Given the description of an element on the screen output the (x, y) to click on. 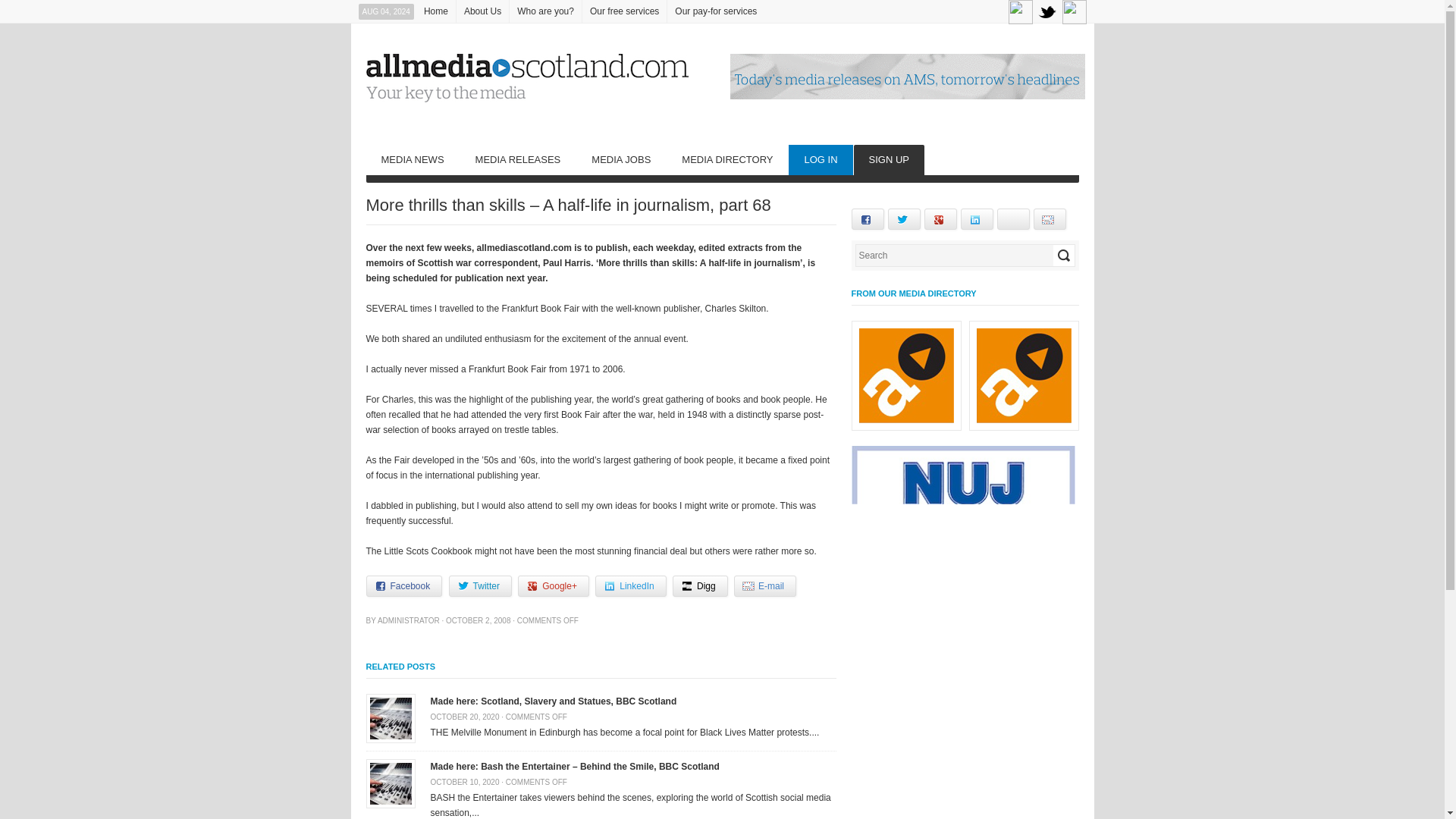
media release service, media release distribution (518, 159)
Home (435, 11)
Share this article on Digg (700, 586)
MEDIA NEWS (411, 159)
Share this article on Facebook (403, 586)
Search (1063, 255)
Share this article on LinkedIn (630, 586)
Who are you? (544, 11)
